Given the description of an element on the screen output the (x, y) to click on. 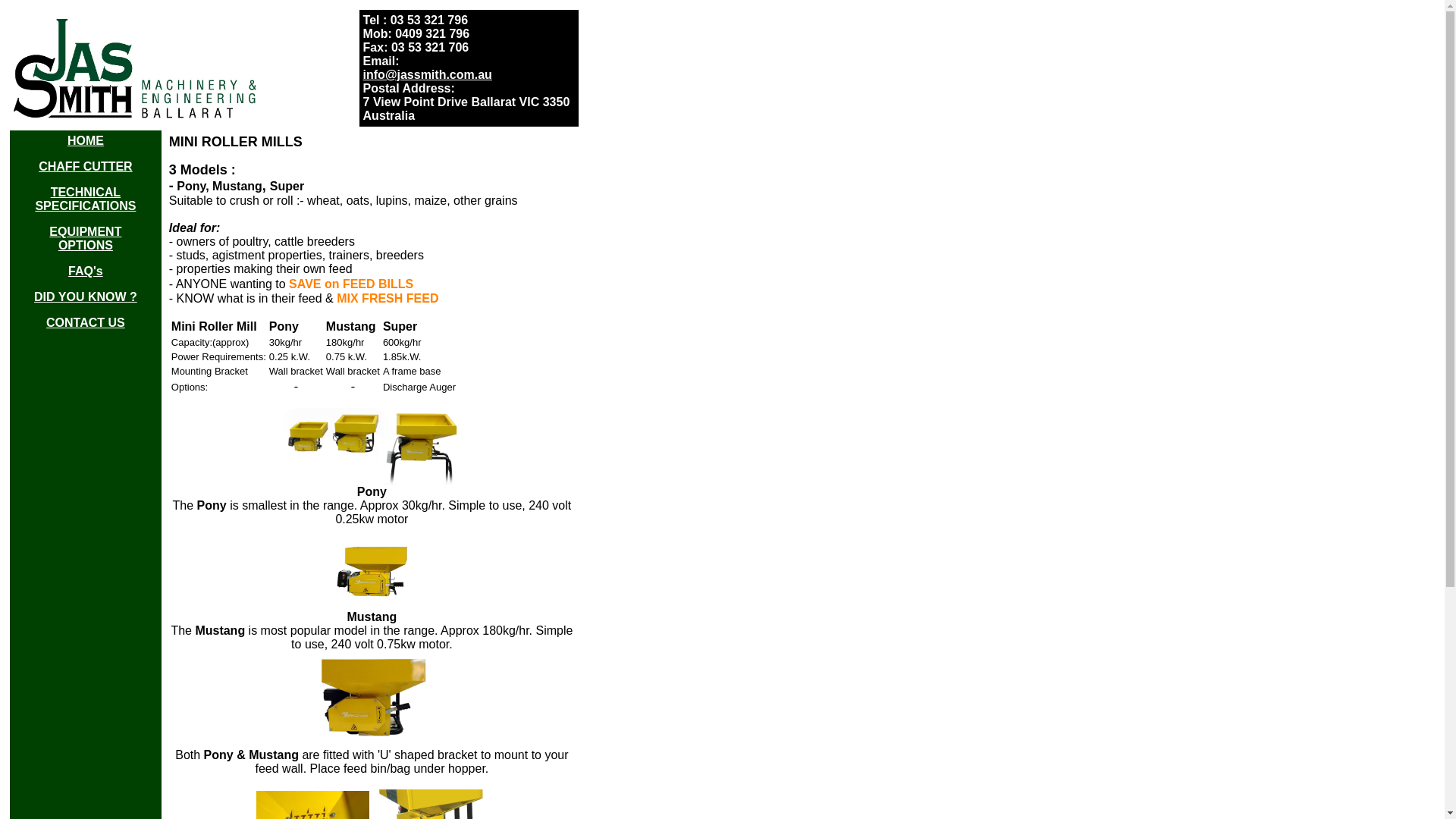
EQUIPMENT
OPTIONS Element type: text (85, 238)
CHAFF CUTTER Element type: text (85, 166)
info@jassmith.com.au Element type: text (427, 74)
DID YOU KNOW ? Element type: text (85, 296)
TECHNICAL
SPECIFICATIONS Element type: text (84, 198)
CONTACT US Element type: text (85, 322)
FAQ's Element type: text (85, 270)
HOME Element type: text (85, 140)
